Given the description of an element on the screen output the (x, y) to click on. 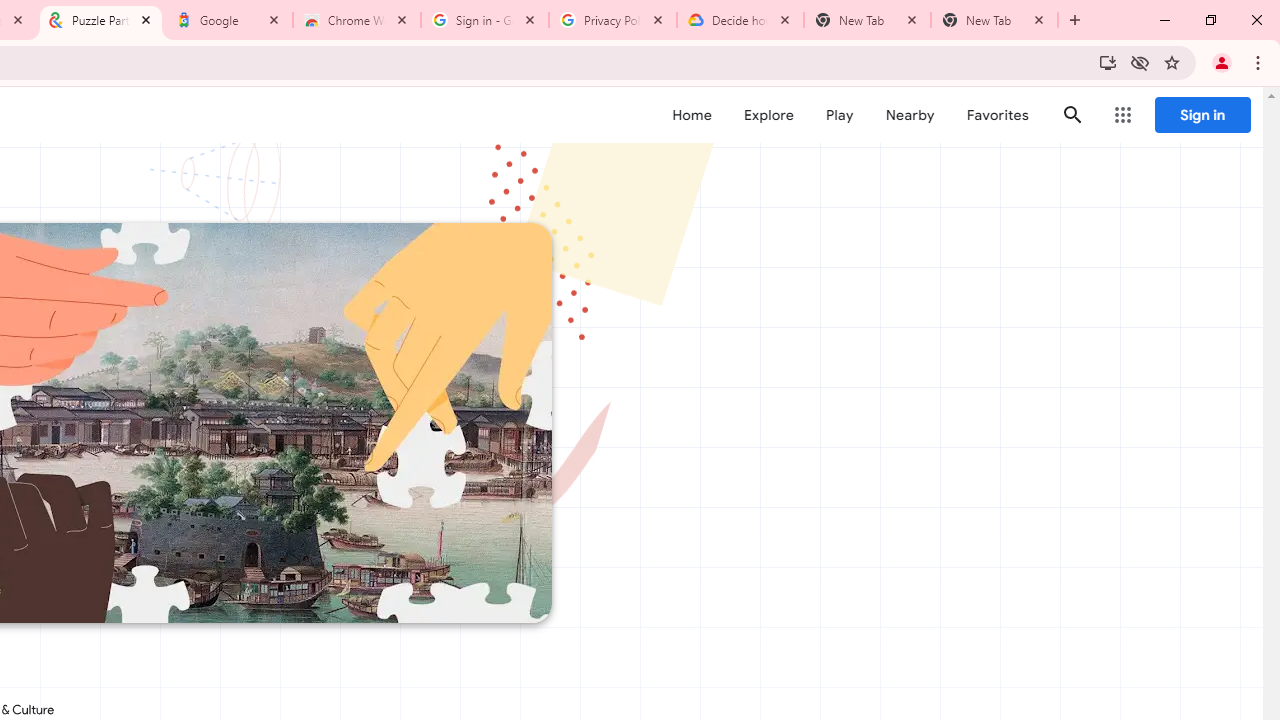
Chrome Web Store - Color themes by Chrome (357, 20)
New Tab (994, 20)
Favorites (996, 115)
Close Experiment (1222, 126)
Sign in - Google Accounts (485, 20)
Play (840, 115)
Explore (768, 115)
Install Google Arts & Culture (1107, 62)
